Given the description of an element on the screen output the (x, y) to click on. 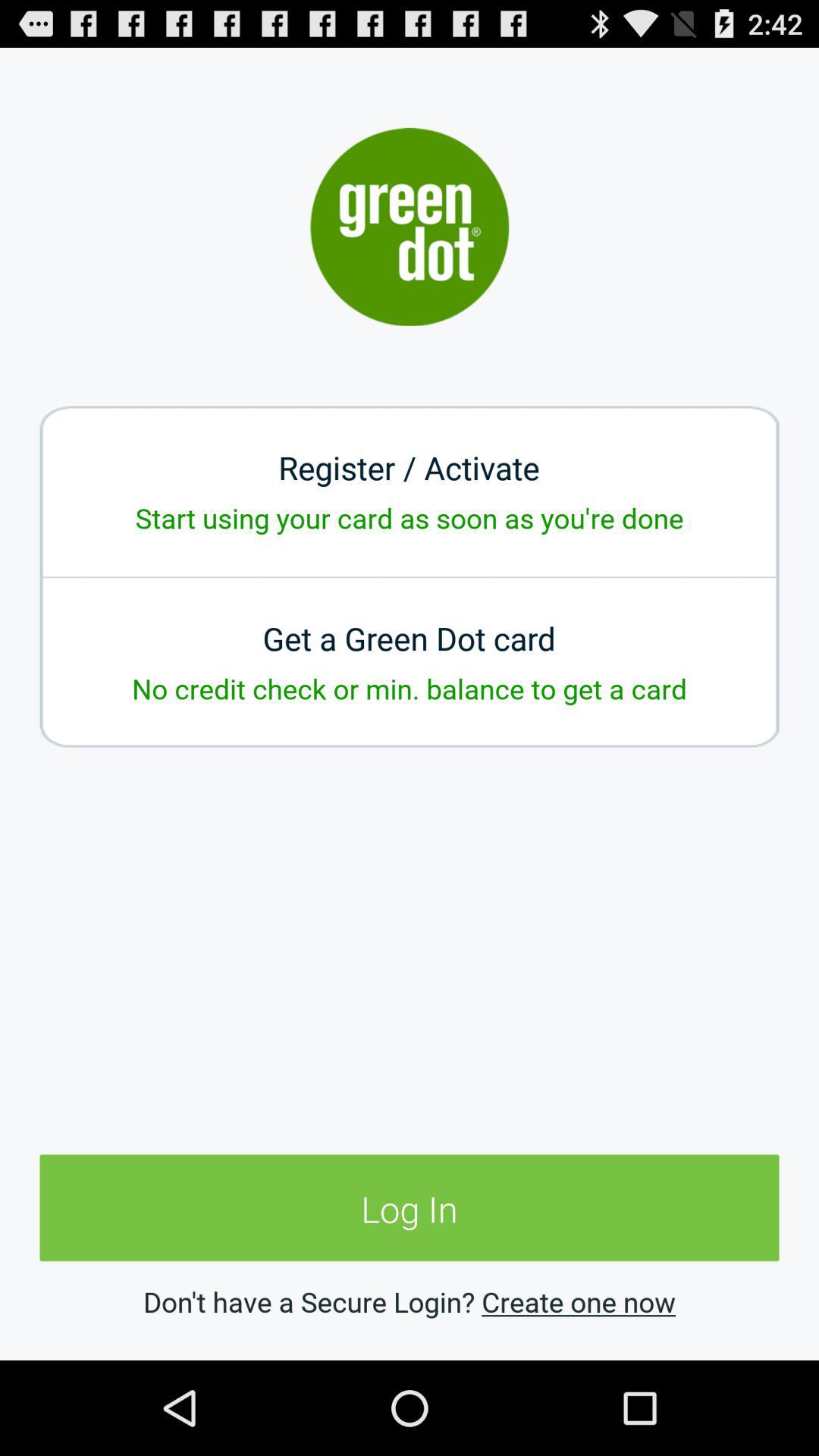
turn off create one now (578, 1301)
